Given the description of an element on the screen output the (x, y) to click on. 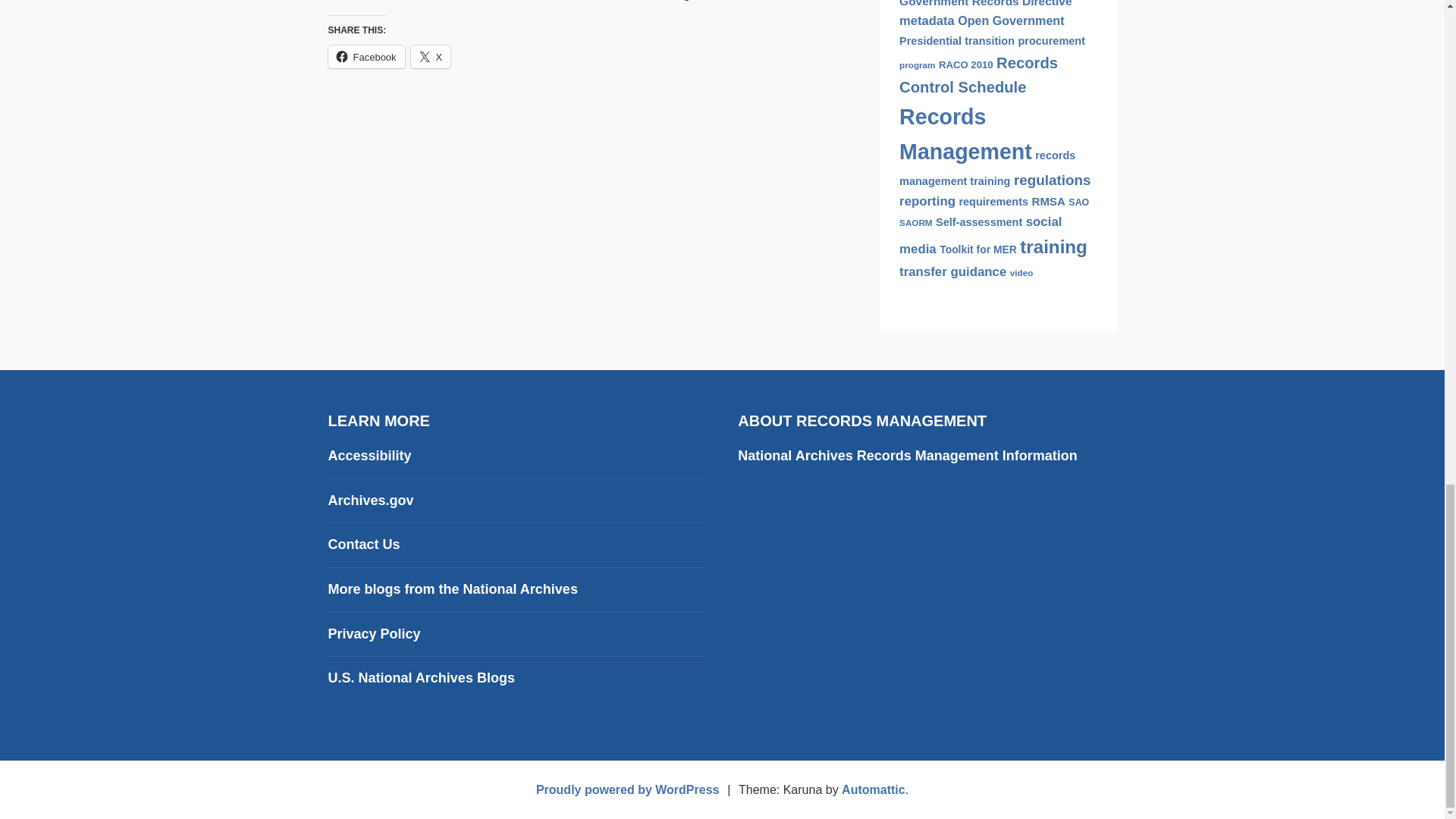
program (916, 64)
Open Government (1011, 20)
Accessibility information on archives.gov (368, 455)
Presidential transition (956, 40)
Facebook (365, 56)
Managing Government Records Directive (992, 3)
Click to share on Facebook (365, 56)
Contact information (362, 544)
X (430, 56)
